Given the description of an element on the screen output the (x, y) to click on. 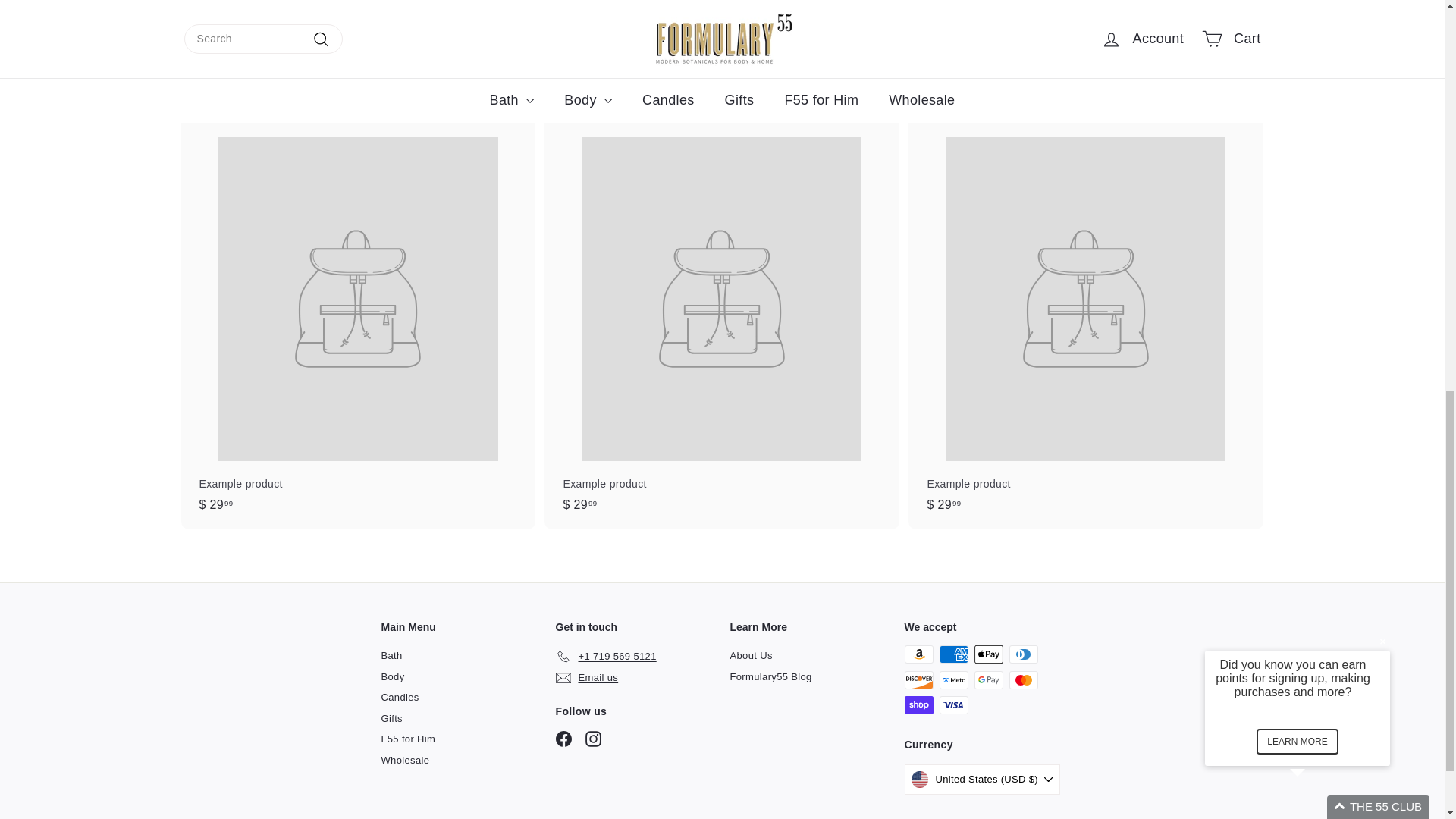
Formulary 55 on Instagram (593, 738)
instagram (593, 738)
Amazon (918, 654)
American Express (953, 654)
Formulary 55 on Facebook (562, 738)
Apple Pay (988, 654)
